Given the description of an element on the screen output the (x, y) to click on. 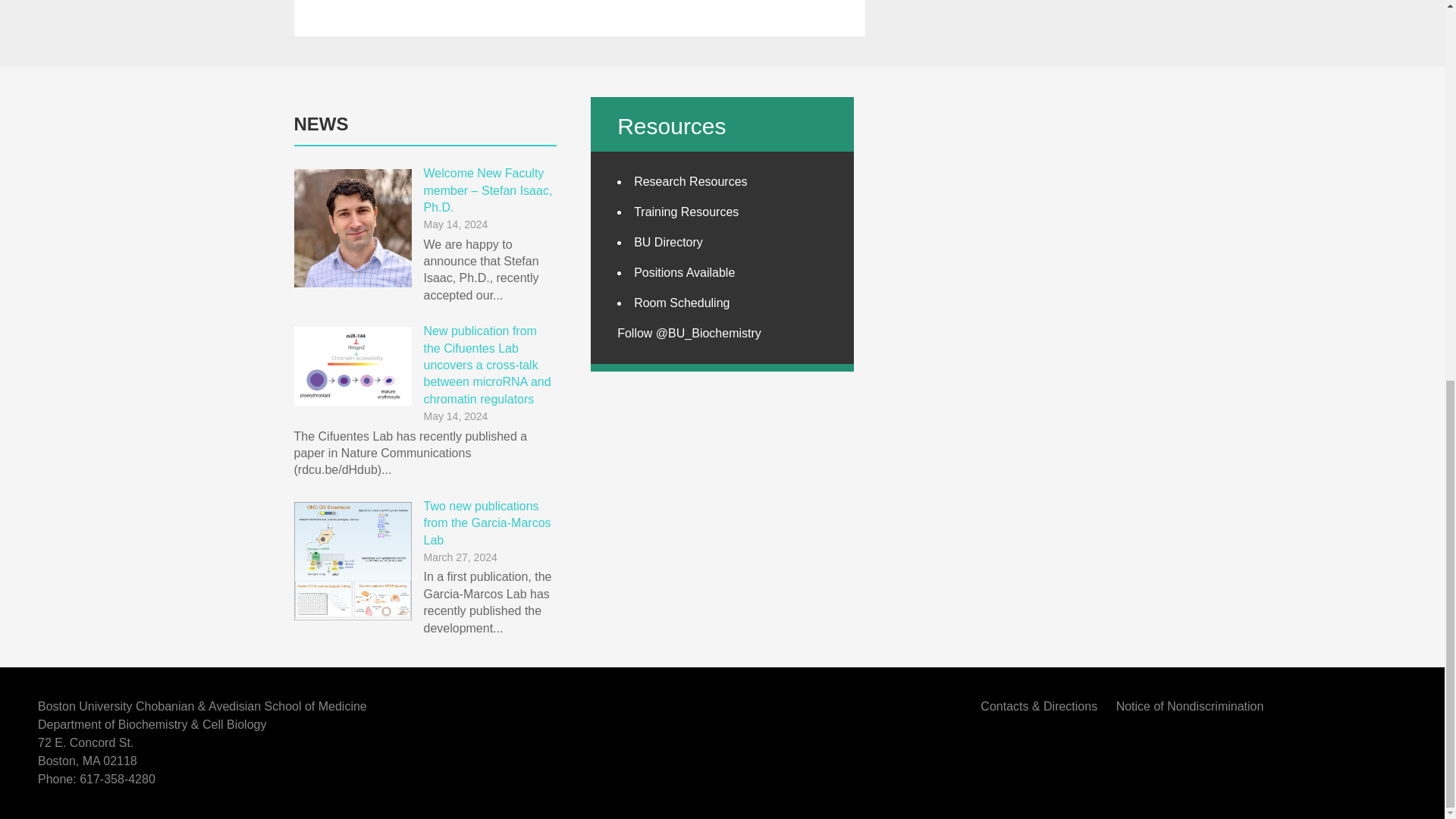
Room Scheduling (681, 302)
Training Resources (685, 211)
Positions Available (684, 272)
NEWS (321, 123)
Research Resources (689, 181)
Two new publications from the Garcia-Marcos Lab (486, 523)
BU Directory (668, 241)
